Given the description of an element on the screen output the (x, y) to click on. 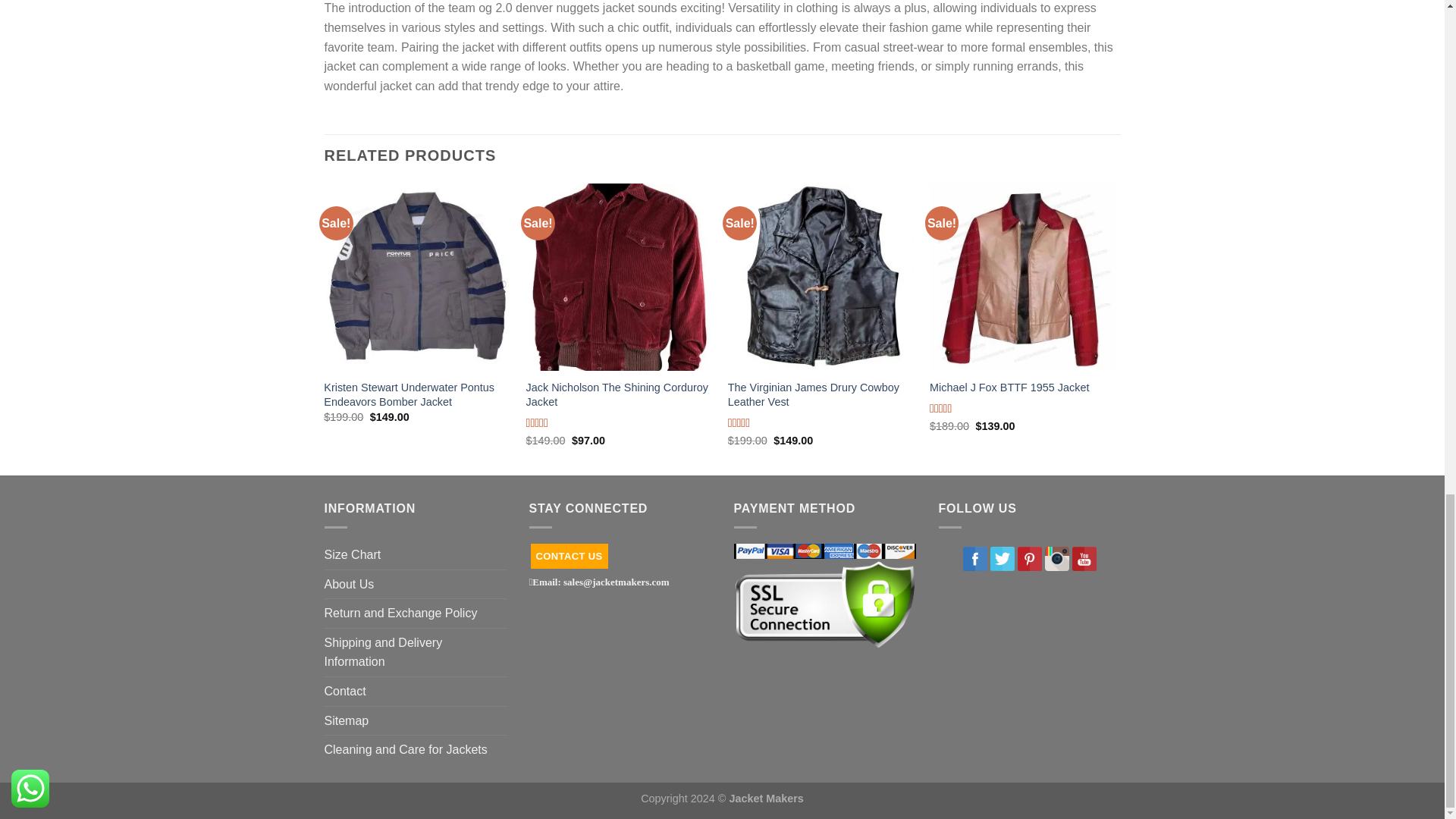
fb (974, 558)
